Given the description of an element on the screen output the (x, y) to click on. 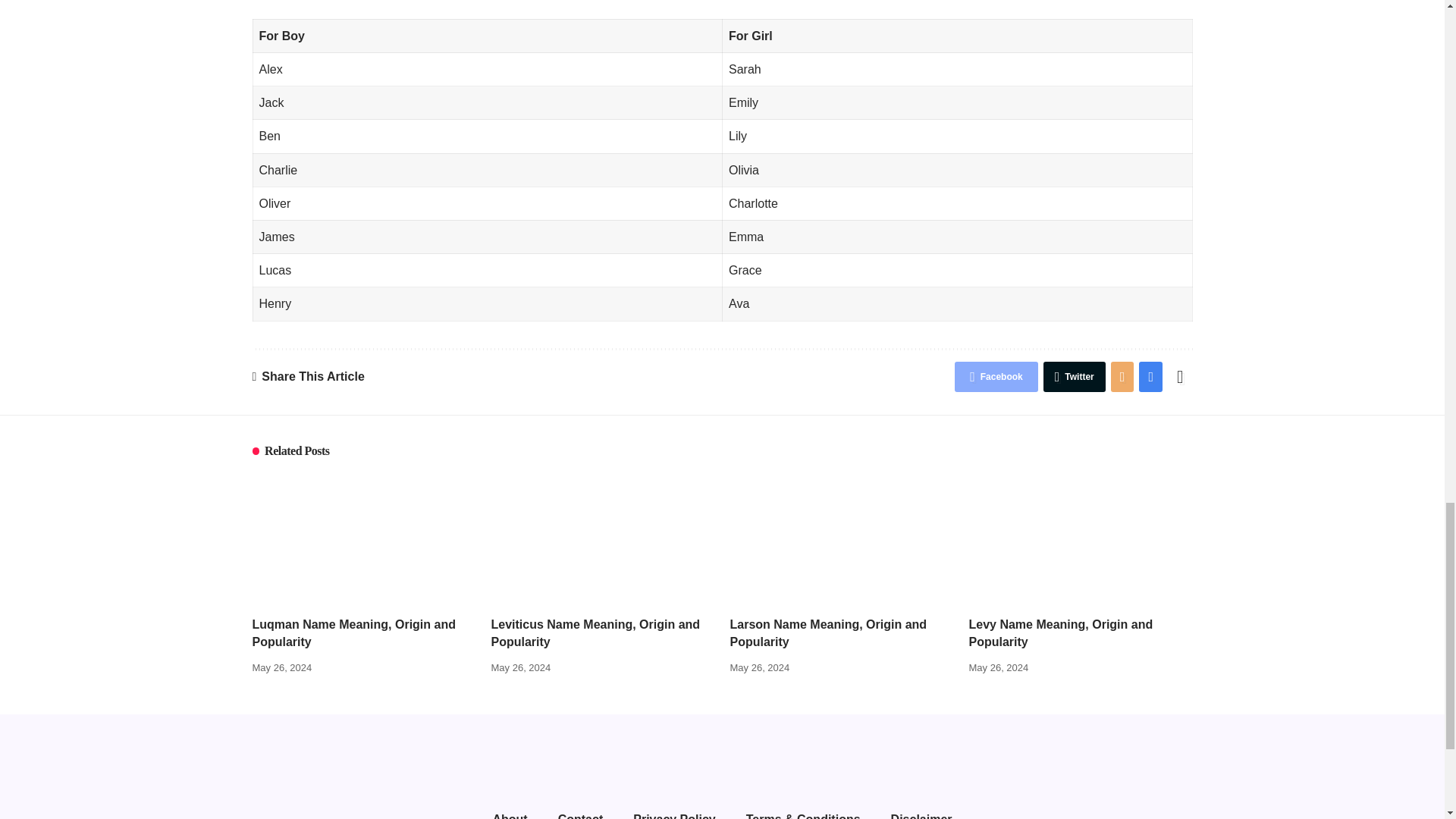
Levy Name Meaning, Origin and Popularity (1080, 538)
Leviticus Name Meaning, Origin and Popularity (603, 538)
Larson Name Meaning, Origin and Popularity (841, 538)
Luqman Name Meaning, Origin and Popularity (363, 538)
